Given the description of an element on the screen output the (x, y) to click on. 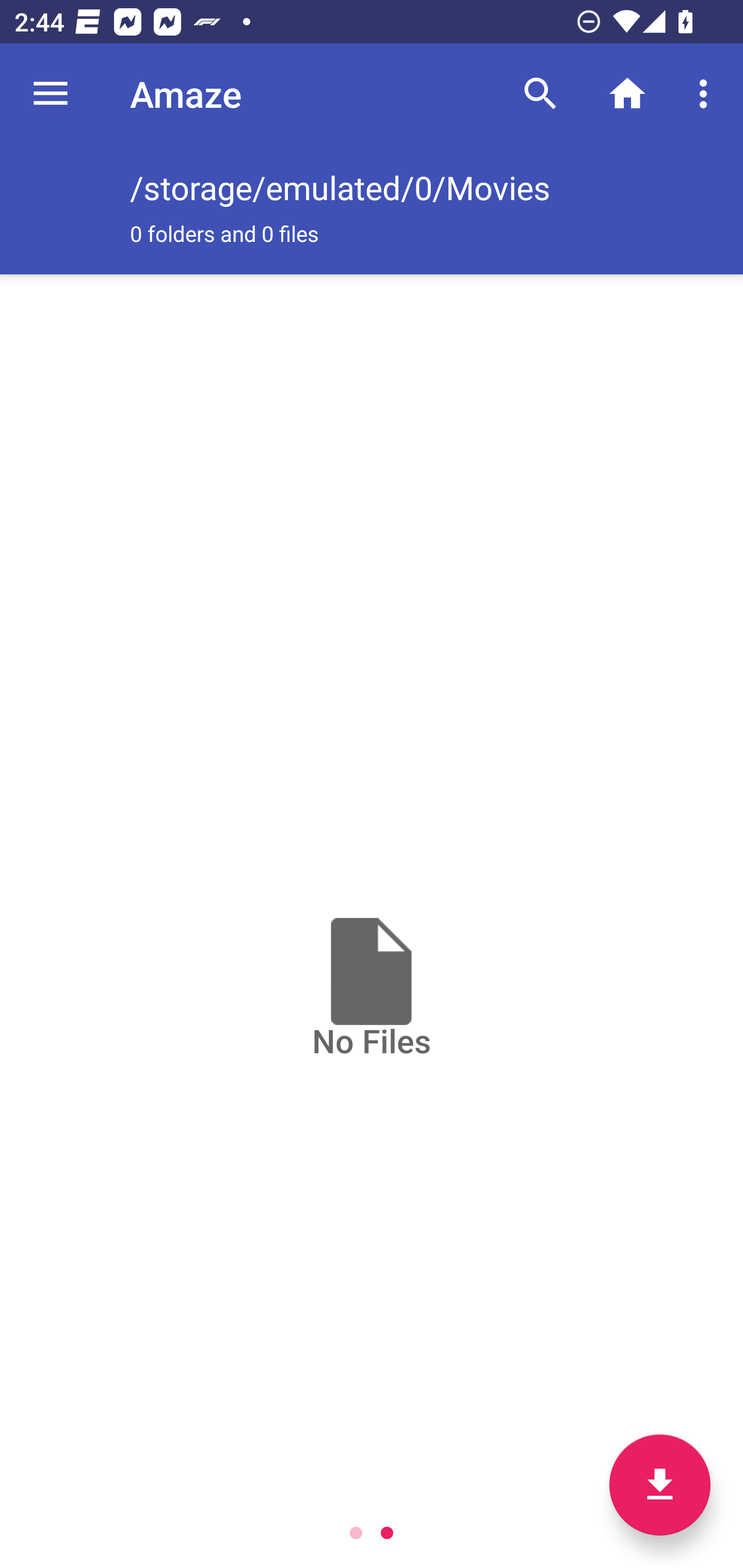
Navigate up (50, 93)
Search (540, 93)
Home (626, 93)
More options (706, 93)
